Given the description of an element on the screen output the (x, y) to click on. 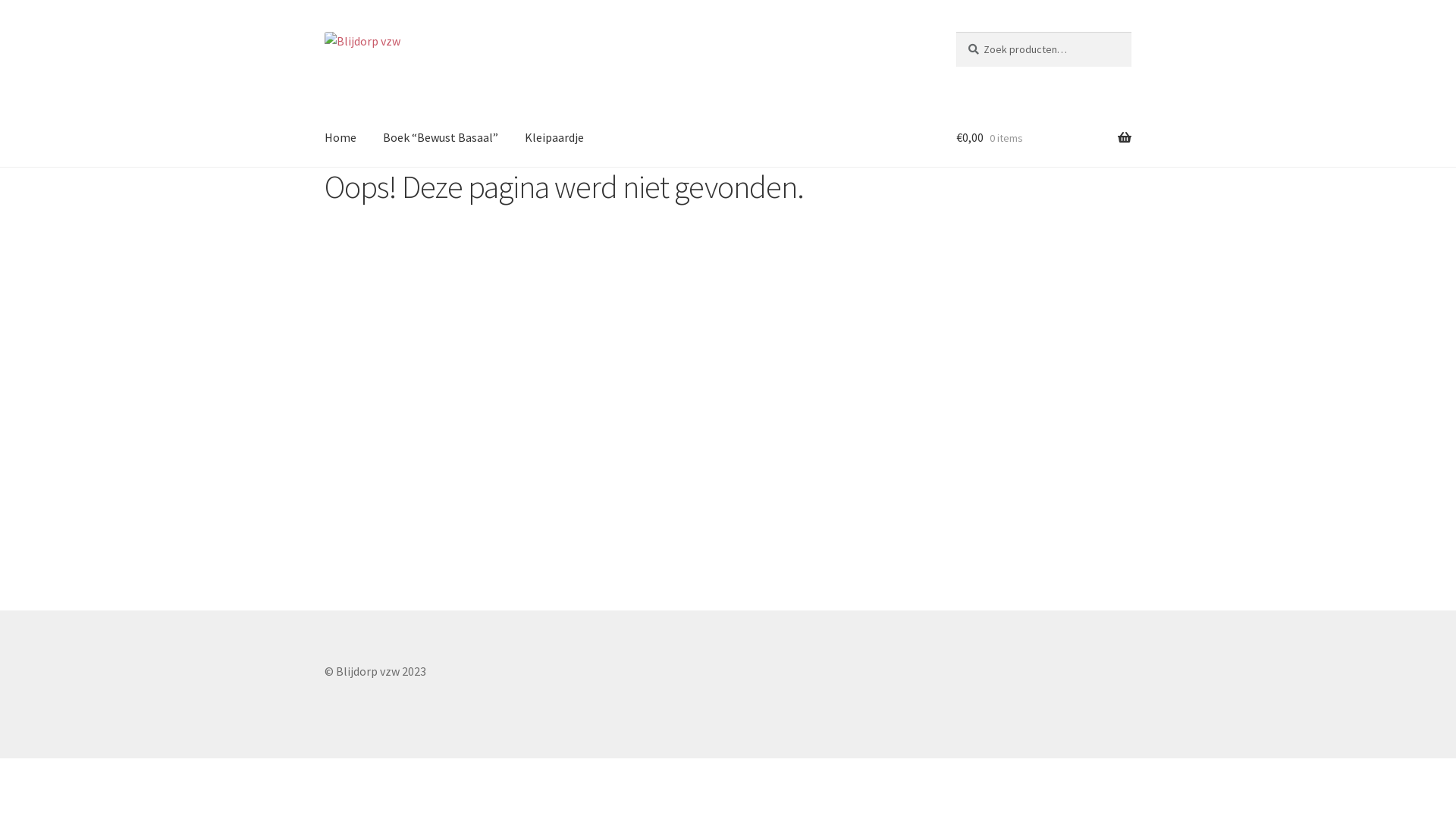
Skip to navigation Element type: text (323, 31)
Kleipaardje Element type: text (554, 137)
Zoeken Element type: text (955, 31)
Home Element type: text (340, 137)
